Given the description of an element on the screen output the (x, y) to click on. 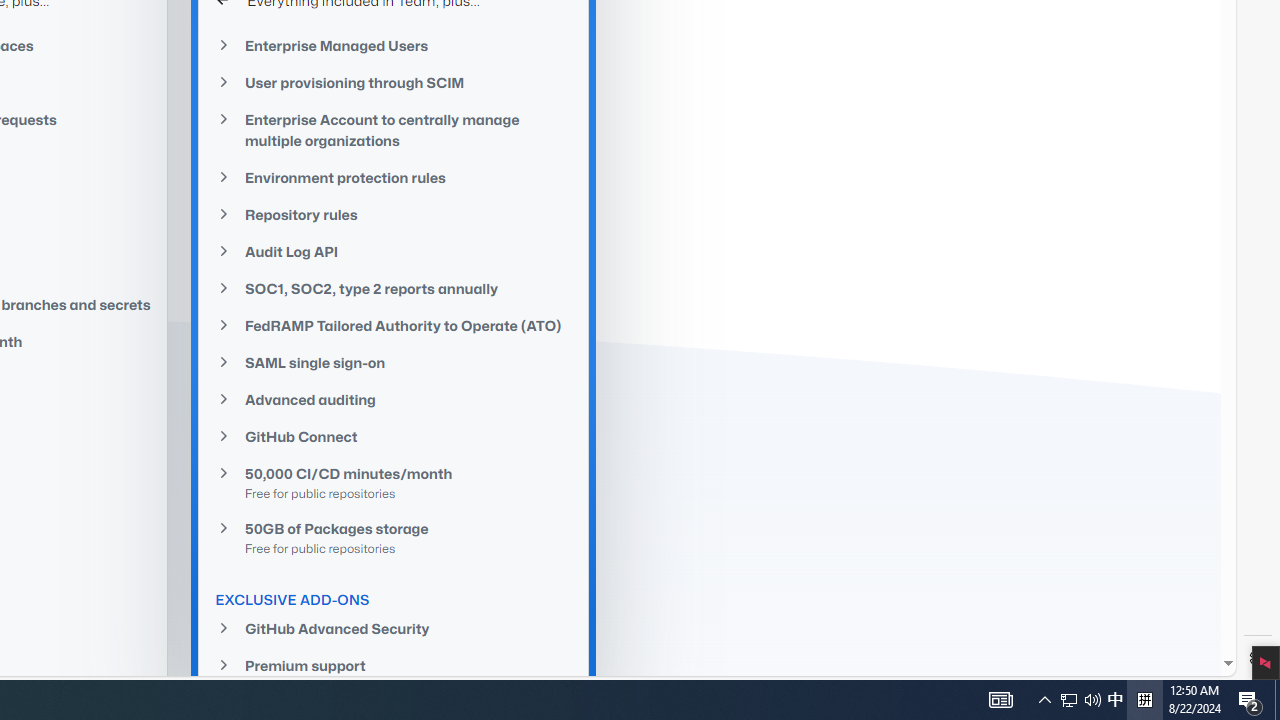
Advanced auditing (394, 399)
